Given the description of an element on the screen output the (x, y) to click on. 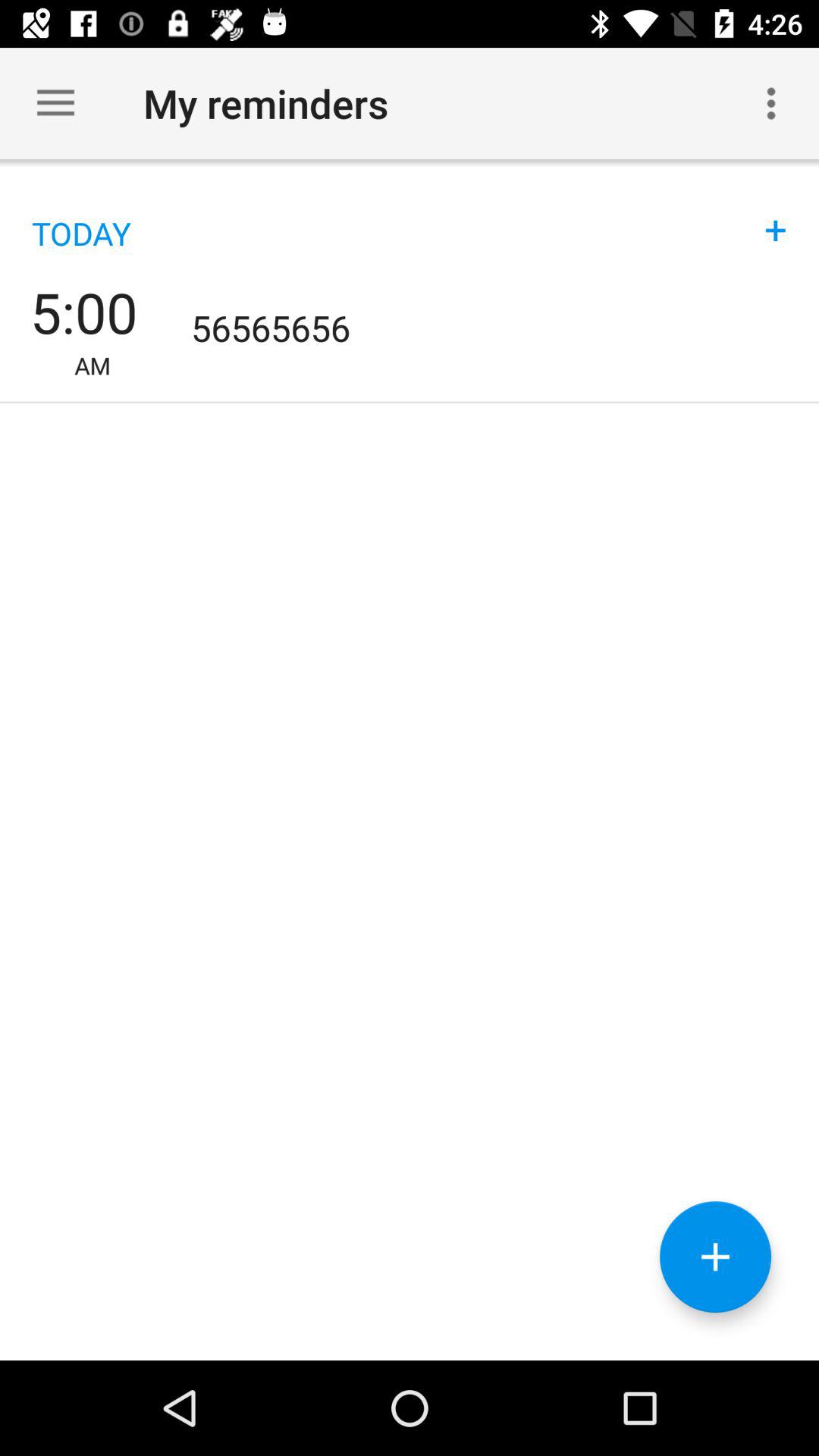
add a reminder (715, 1256)
